Given the description of an element on the screen output the (x, y) to click on. 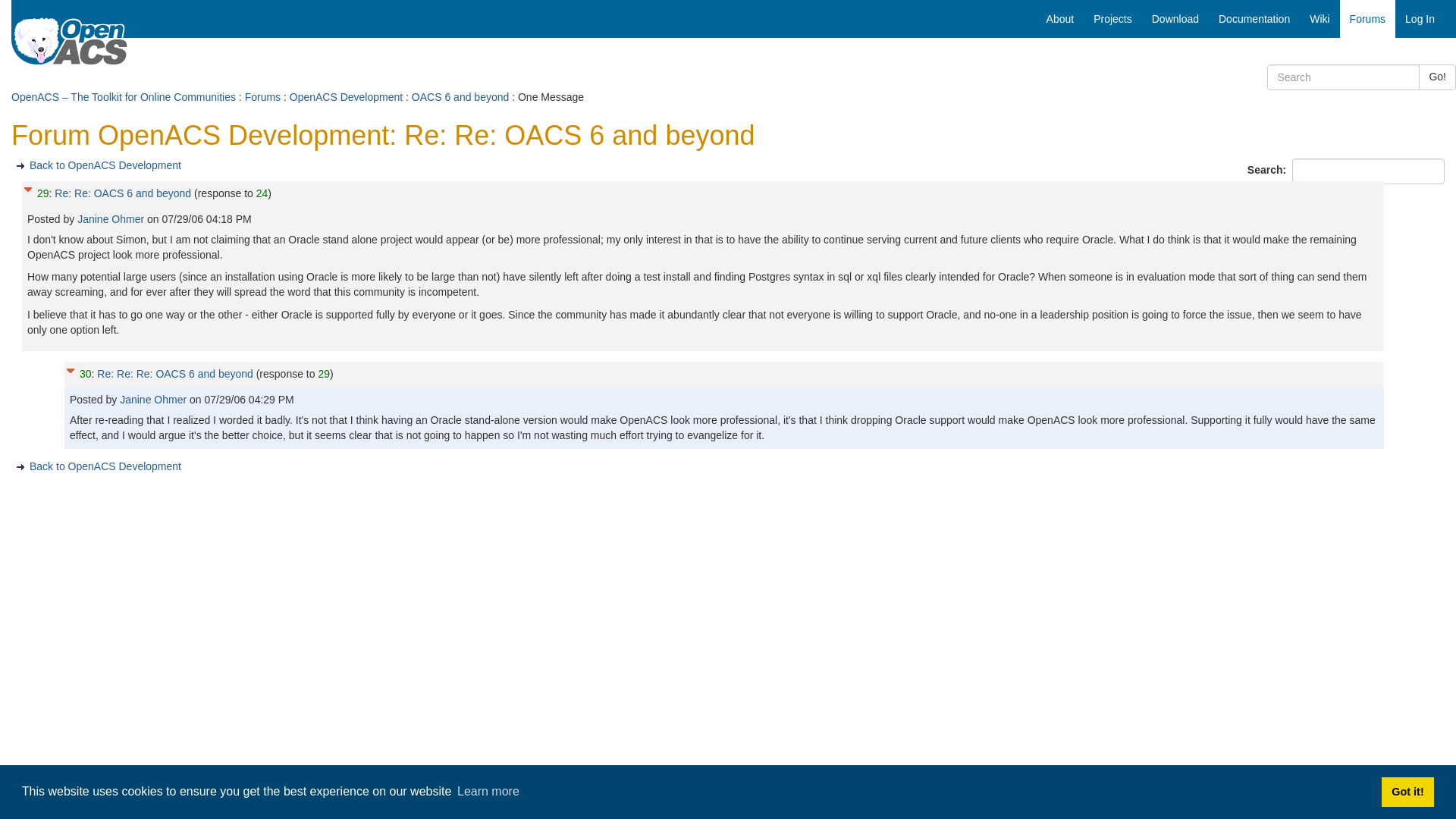
29 (323, 373)
Direct link to this post (323, 373)
Re: Re: OACS 6 and beyond (122, 193)
Collapse message (70, 368)
Show Janine Ohmer posting history (154, 399)
Janine Ohmer (112, 218)
Back to OpenACS Development (104, 164)
24 (261, 193)
Projects (1112, 18)
About OpenACS (1060, 18)
Download (1174, 18)
OACS 6 and beyond (460, 96)
30 (85, 373)
29 (43, 193)
OpenACS and DotLRN Discussion Forums (1366, 18)
